Given the description of an element on the screen output the (x, y) to click on. 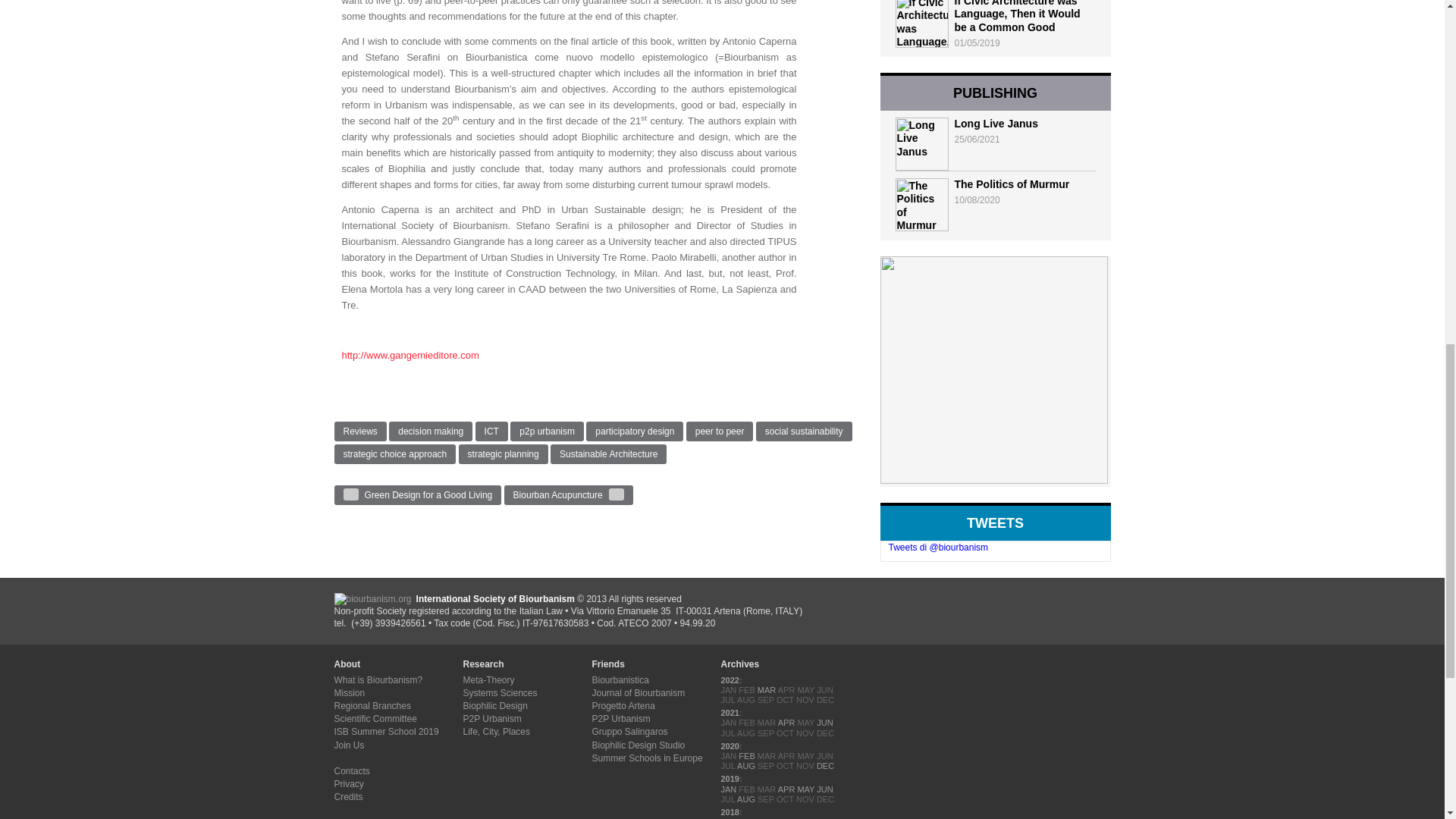
strategic planning (503, 454)
participatory design (634, 431)
Reviews (359, 431)
decision making (429, 431)
strategic choice approach (394, 454)
ICT (492, 431)
Partecipazione e ICT (409, 355)
Sustainable Architecture (608, 454)
p2p urbanism (547, 431)
peer to peer (719, 431)
